Given the description of an element on the screen output the (x, y) to click on. 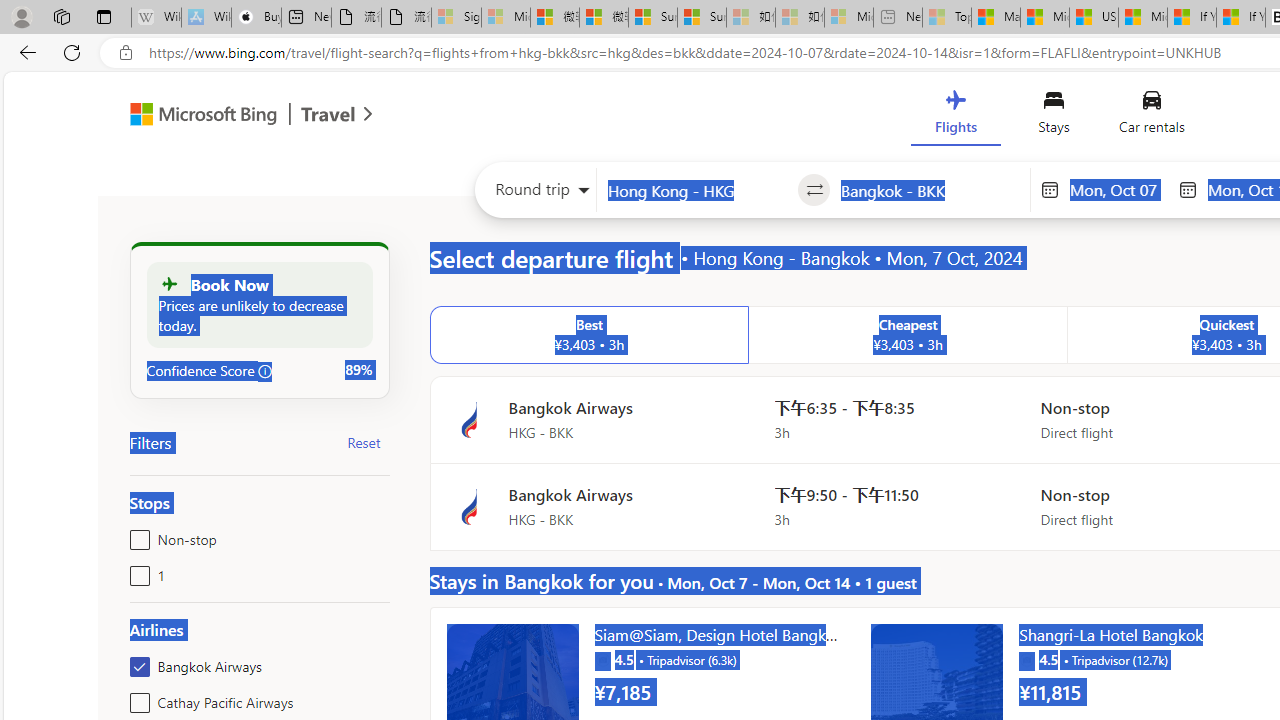
Going to? (930, 190)
New tab - Sleeping (897, 17)
Reset (363, 442)
Start Date (1118, 189)
Travel (328, 116)
Leaving from? (697, 190)
Stays (1053, 116)
Sign in to your Microsoft account - Sleeping (456, 17)
Top Stories - MSN - Sleeping (946, 17)
Class: msft-travel-logo (328, 114)
Cathay Pacific Airways (136, 698)
Flight logo (469, 507)
Tripadvisor (1026, 660)
